Given the description of an element on the screen output the (x, y) to click on. 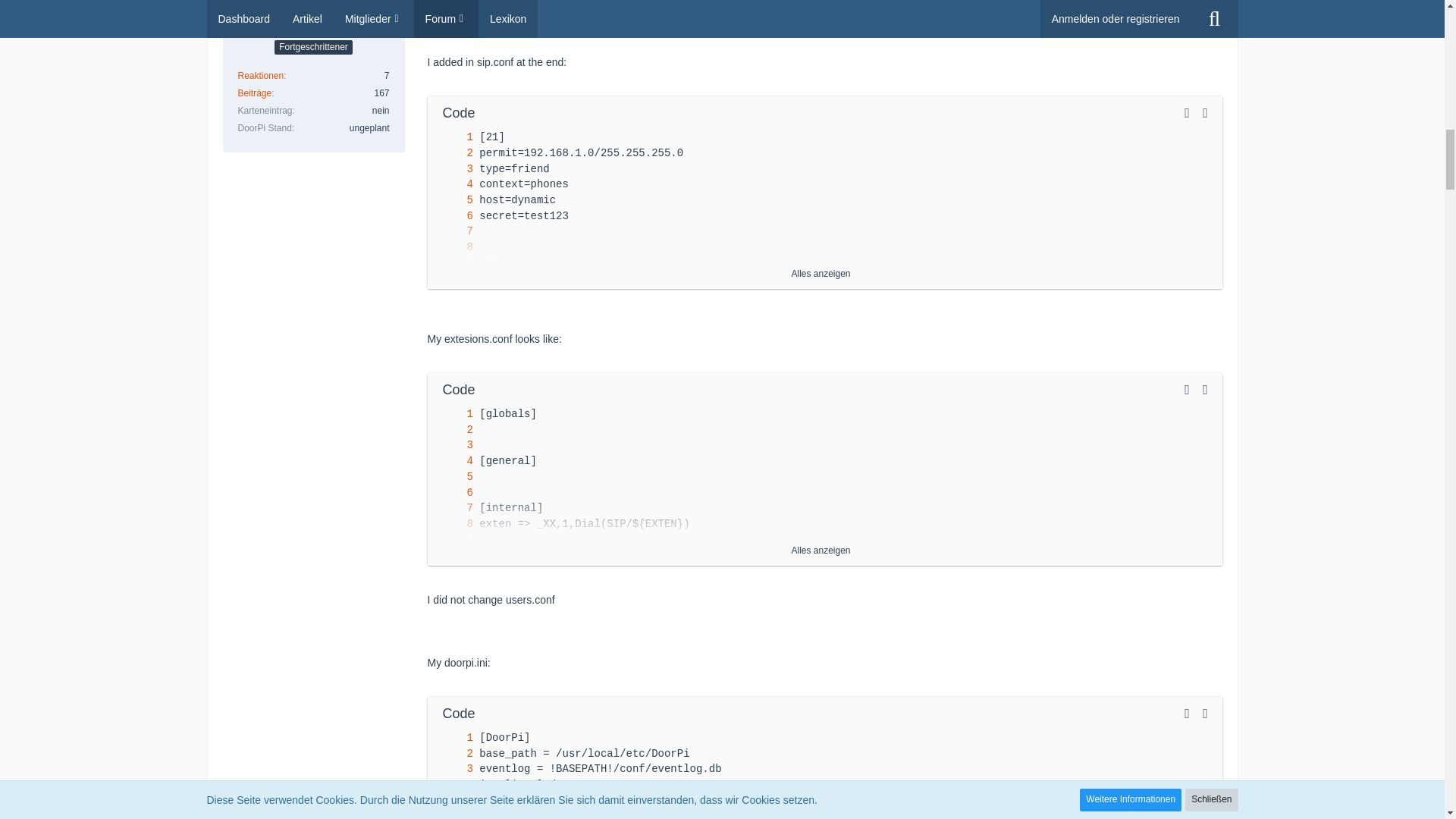
5 (454, 200)
3 (454, 169)
1 (454, 137)
6 (454, 216)
4 (454, 184)
9 (454, 263)
7 (454, 231)
8 (454, 247)
2 (454, 153)
